Given the description of an element on the screen output the (x, y) to click on. 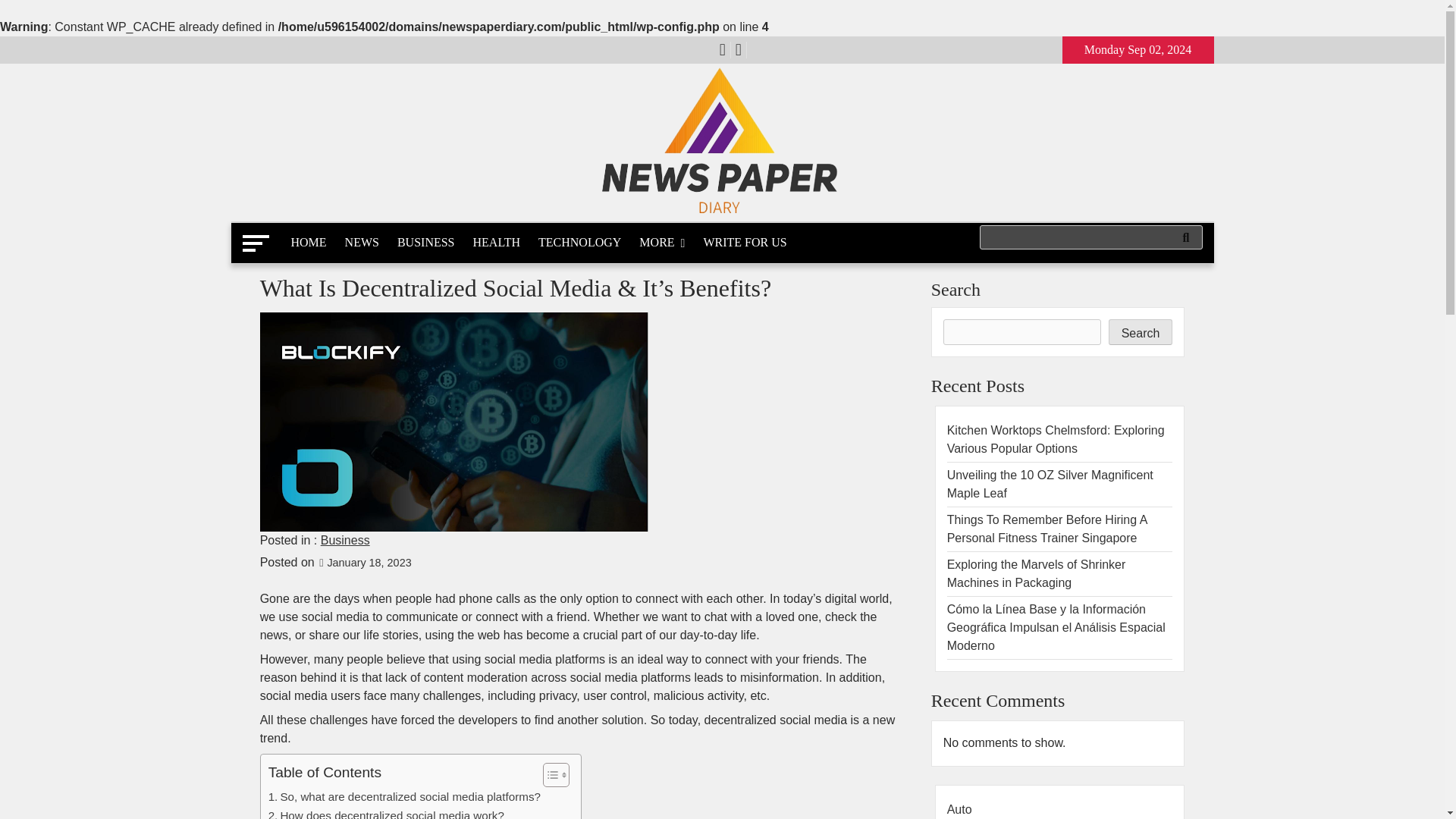
How does decentralized social media work? (385, 812)
Newspaper Dairy (345, 240)
So, what are decentralized social media platforms? (403, 796)
